Given the description of an element on the screen output the (x, y) to click on. 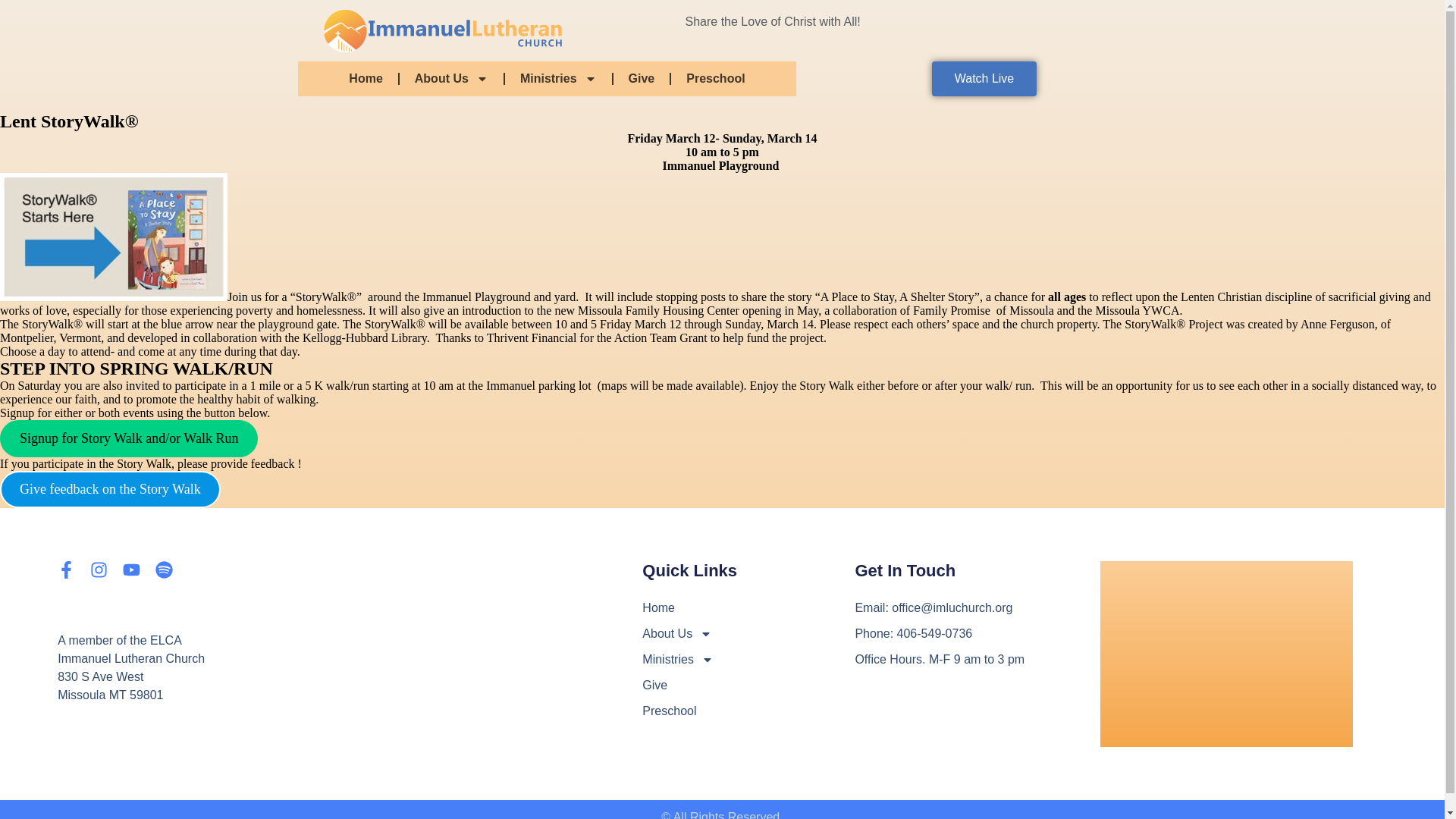
Home (365, 78)
Give (640, 78)
Preschool (715, 78)
About Us (450, 78)
Immanuel Lutheran Missoula (1226, 653)
Ministries (558, 78)
Give feedback on the Story Walk (110, 488)
Watch Live (983, 78)
